Given the description of an element on the screen output the (x, y) to click on. 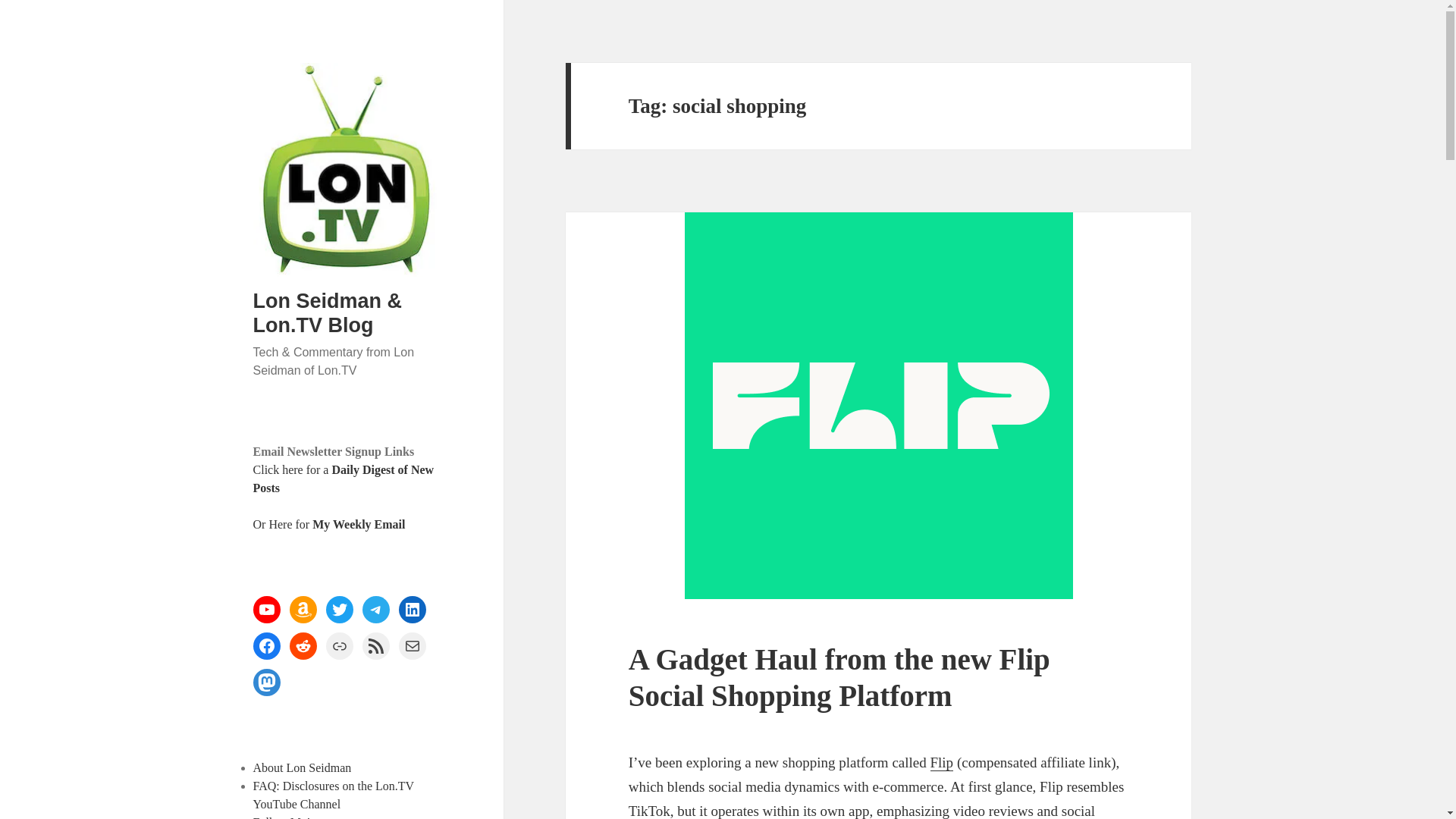
Twitter (339, 609)
FAQ: Disclosures on the Lon.TV YouTube Channel (333, 794)
Or Here for My Weekly Email (329, 523)
Mastodon (267, 682)
Mail (412, 646)
LinkedIn (412, 609)
Reddit (303, 646)
Link (339, 646)
Click here for a Daily Digest of New Posts (343, 478)
About Lon Seidman (302, 767)
Telegram (376, 609)
RSS Feed (376, 646)
Facebook (267, 646)
Amazon (303, 609)
Follow Me! (282, 817)
